Given the description of an element on the screen output the (x, y) to click on. 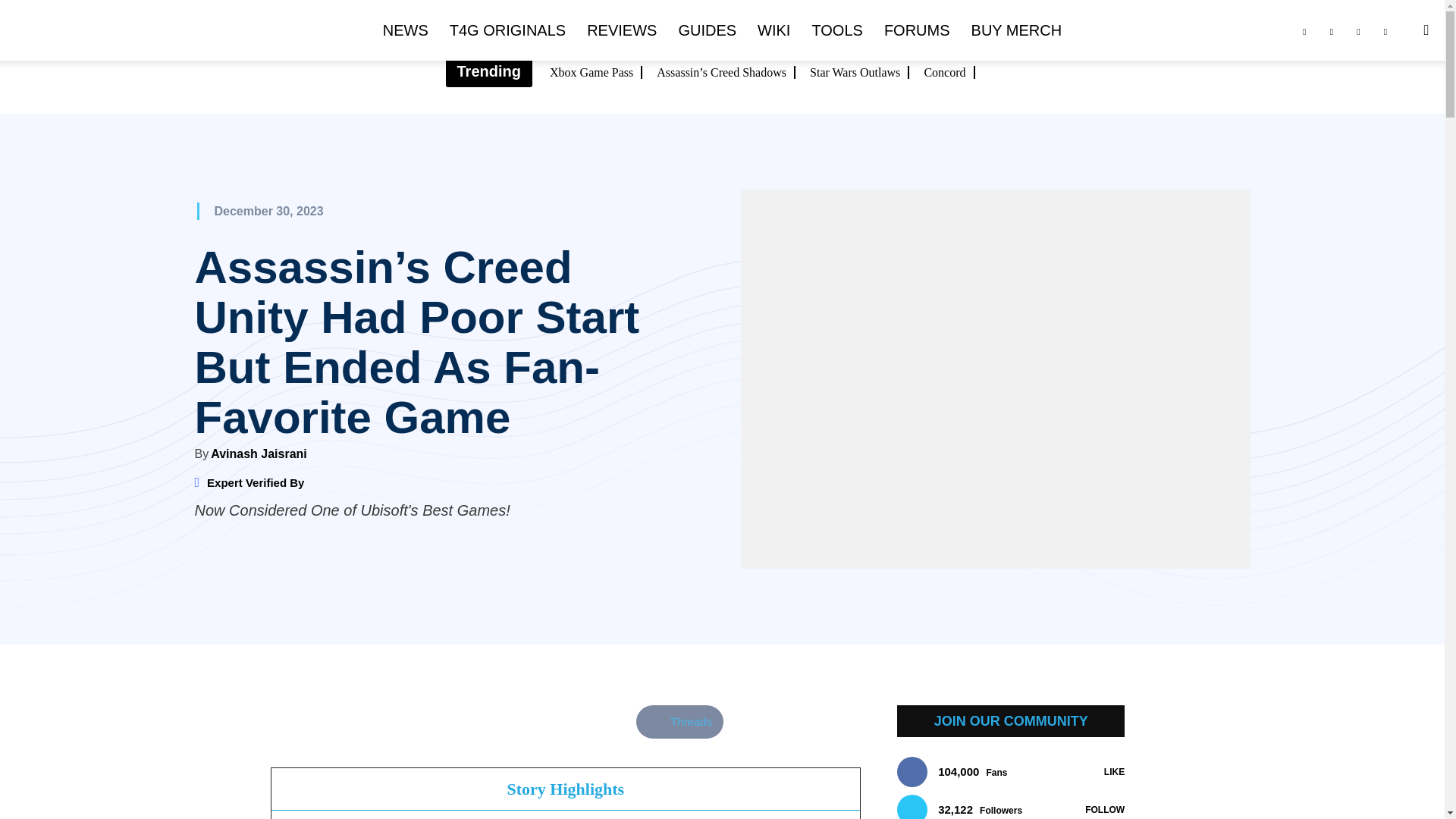
Xbox Game Pass (596, 72)
Tech4Gamers Logo (98, 30)
